Given the description of an element on the screen output the (x, y) to click on. 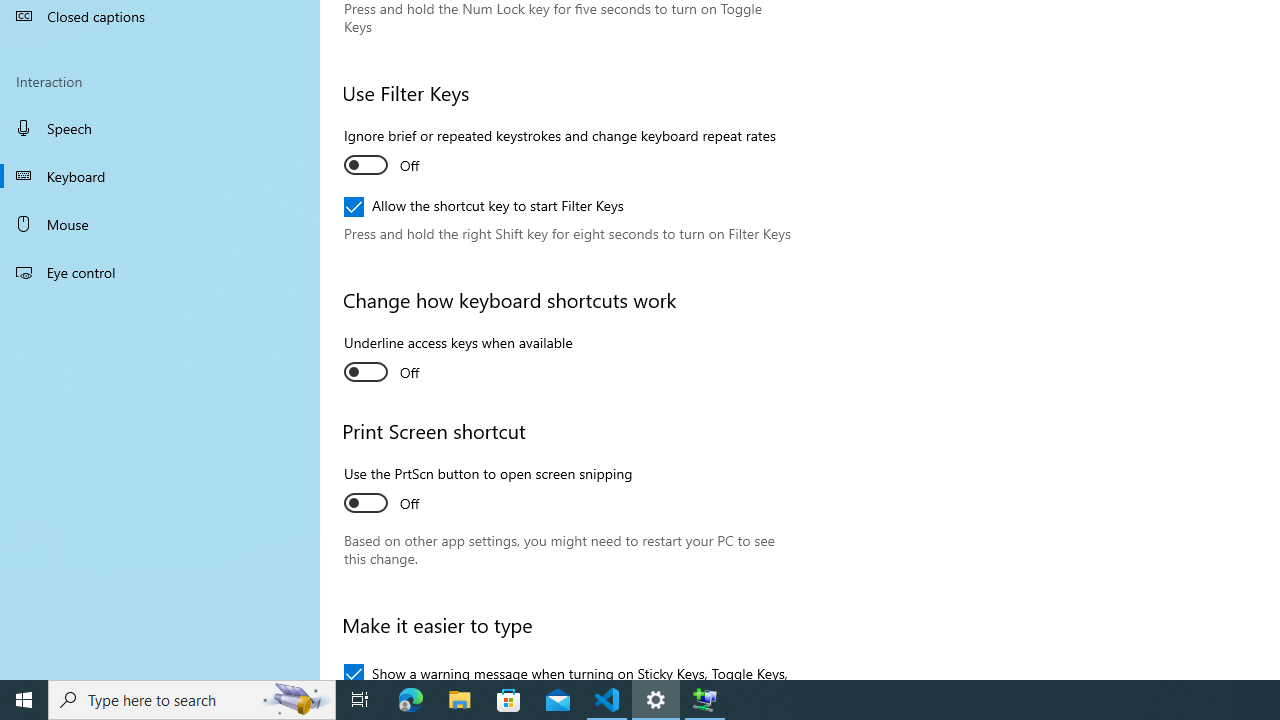
File Explorer (460, 699)
Speech (160, 127)
Microsoft Edge (411, 699)
Mouse (160, 223)
Eye control (160, 271)
